Given the description of an element on the screen output the (x, y) to click on. 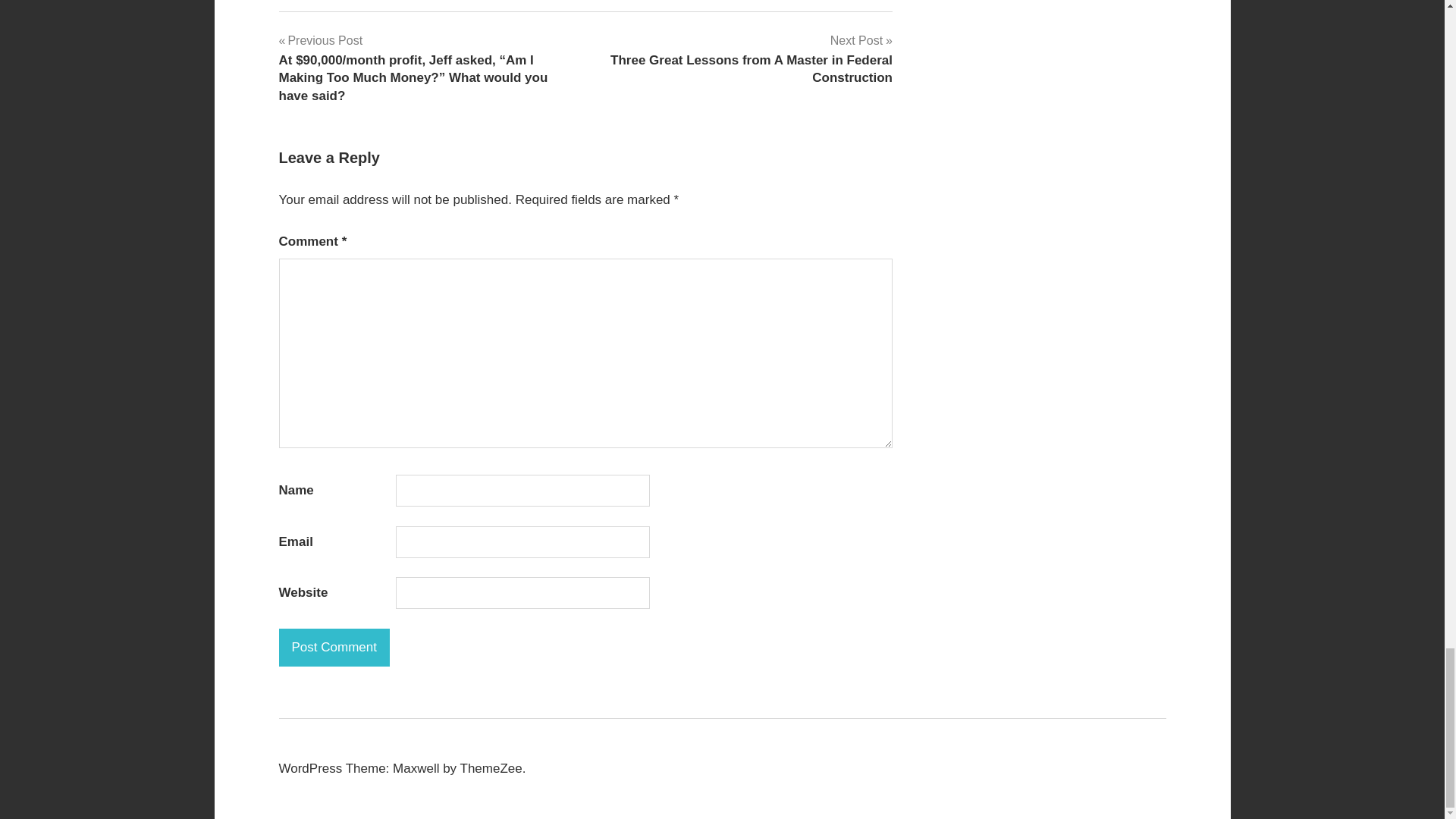
Post Comment (334, 647)
